Given the description of an element on the screen output the (x, y) to click on. 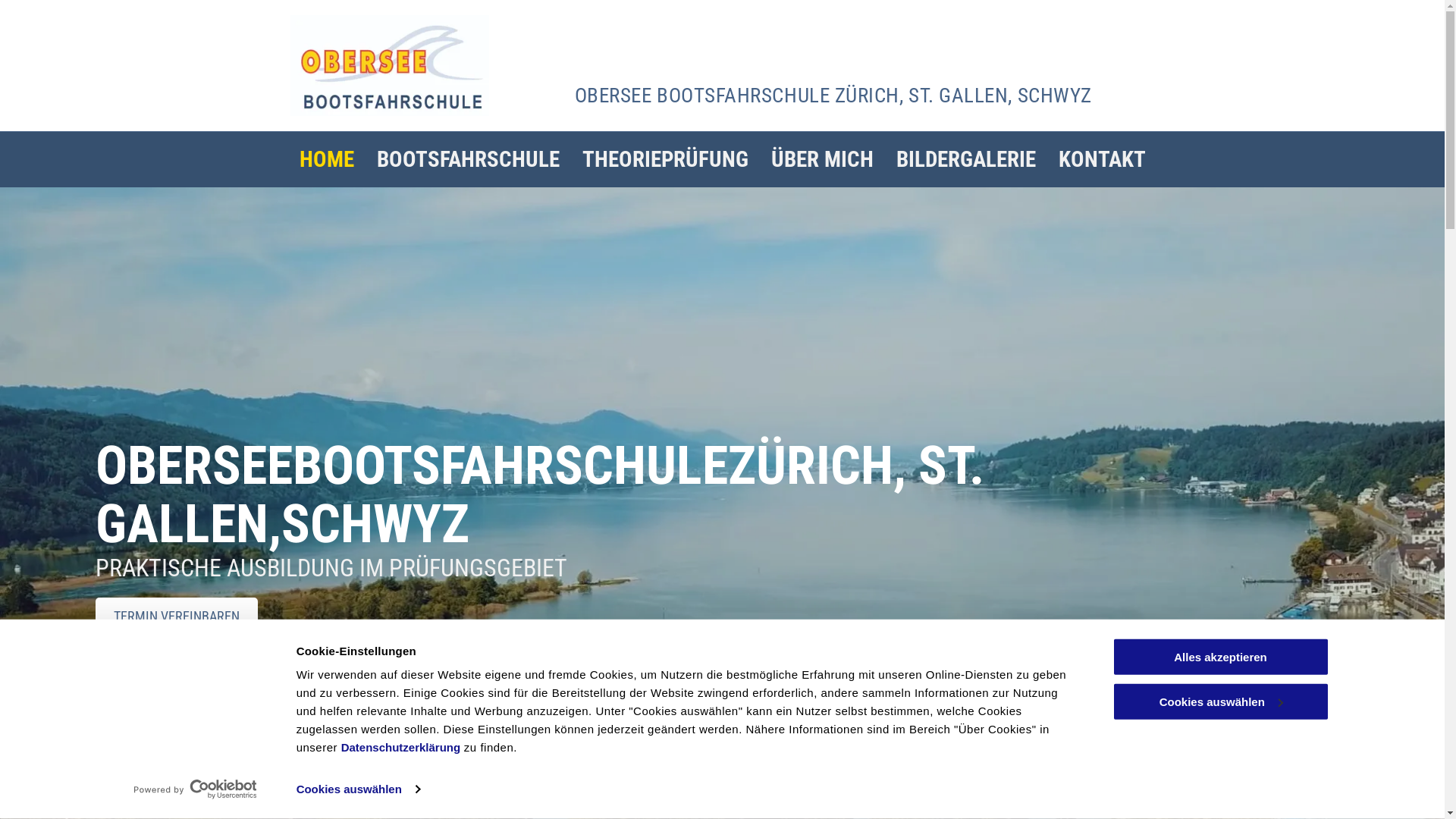
Alles akzeptieren Element type: text (1219, 656)
HOME Element type: text (326, 159)
BILDERGALERIE Element type: text (965, 159)
KONTAKT Element type: text (1101, 159)
BOOTSFAHRSCHULE Element type: text (468, 159)
